Given the description of an element on the screen output the (x, y) to click on. 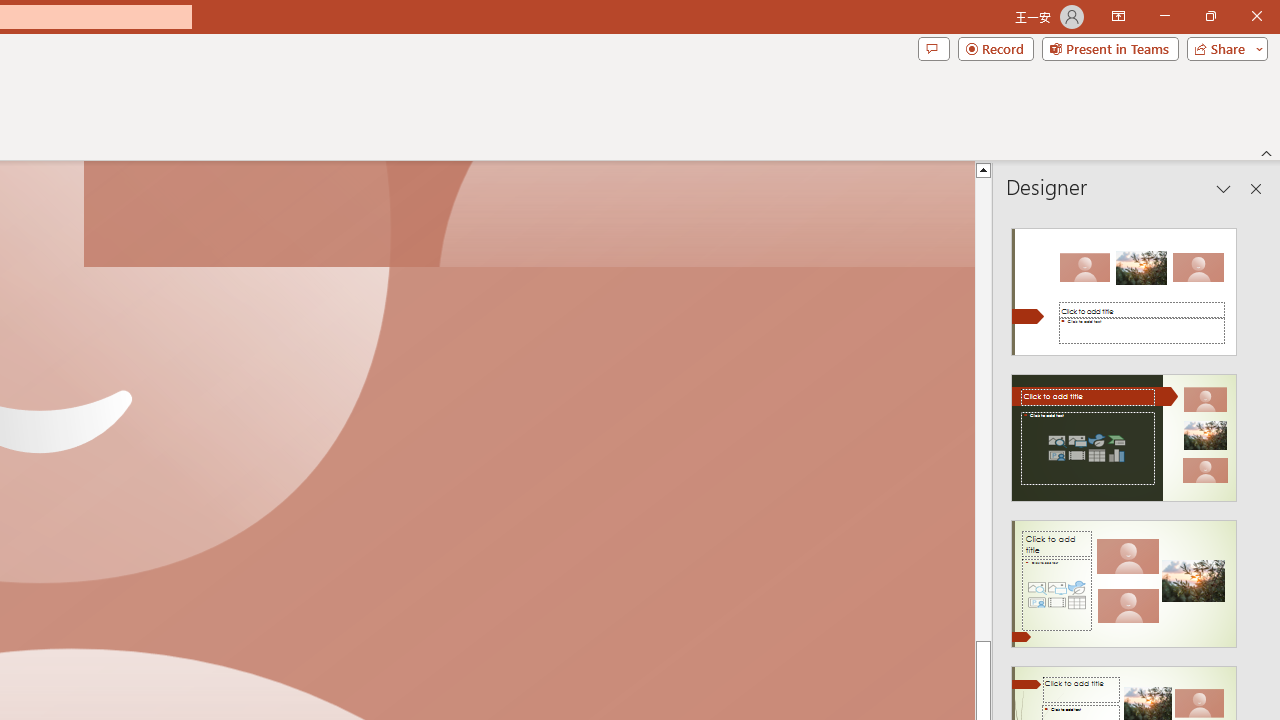
Page up (983, 408)
Recommended Design: Design Idea (1124, 286)
Design Idea (1124, 577)
